Given the description of an element on the screen output the (x, y) to click on. 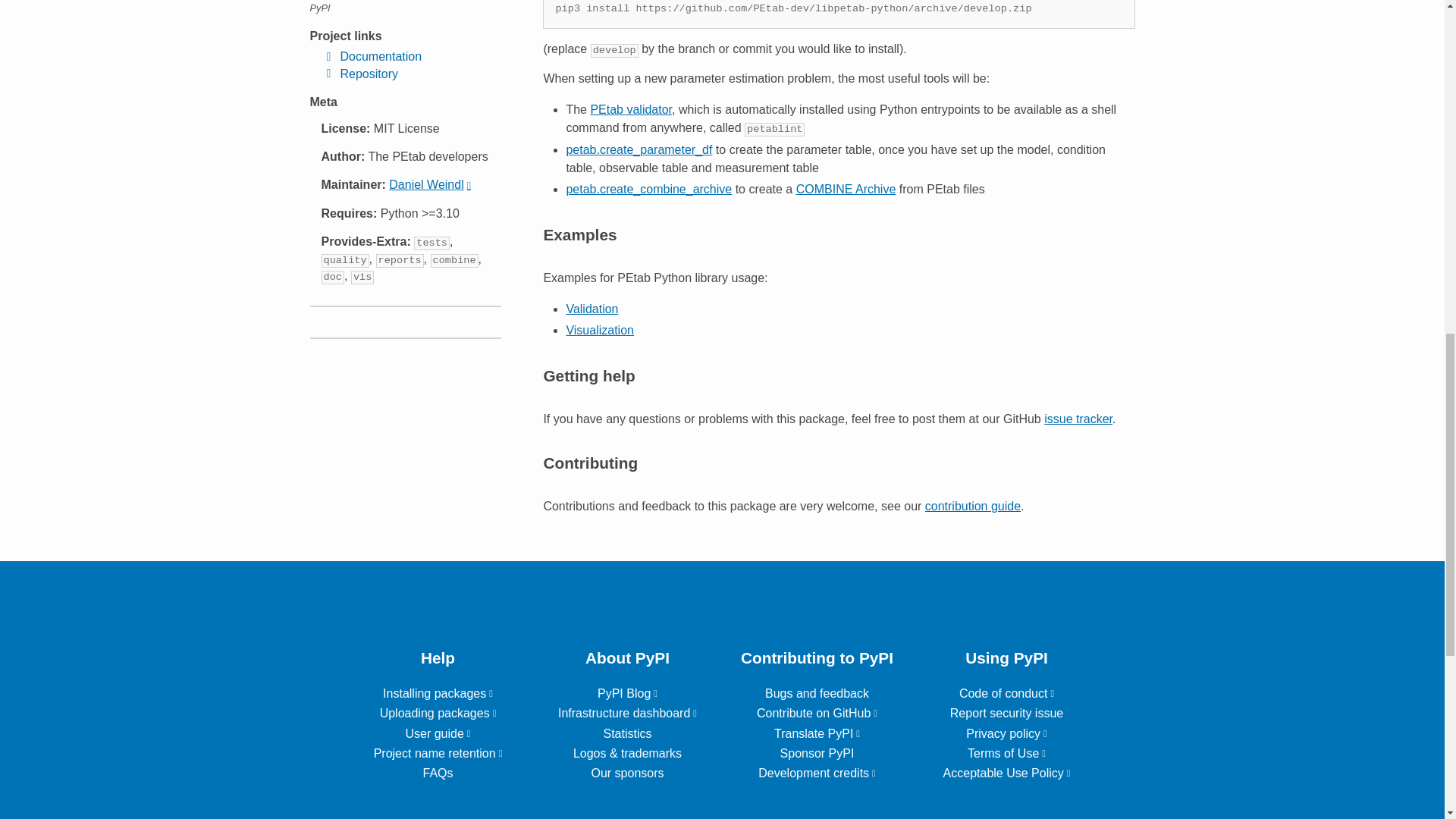
Repository (358, 73)
Documentation (370, 55)
PEtab validator (630, 109)
Daniel Weindl (429, 184)
